Given the description of an element on the screen output the (x, y) to click on. 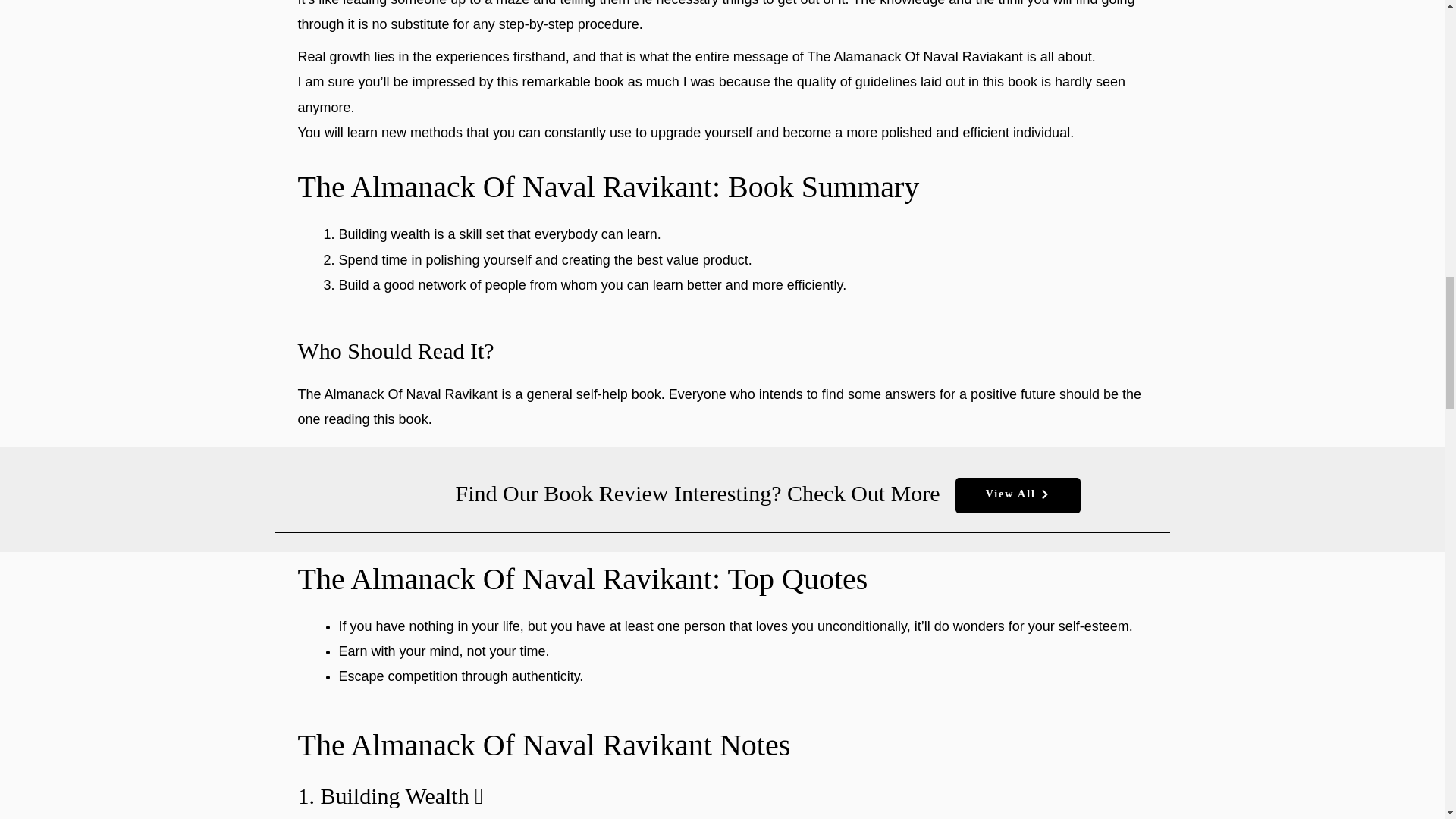
View All (1017, 495)
